Given the description of an element on the screen output the (x, y) to click on. 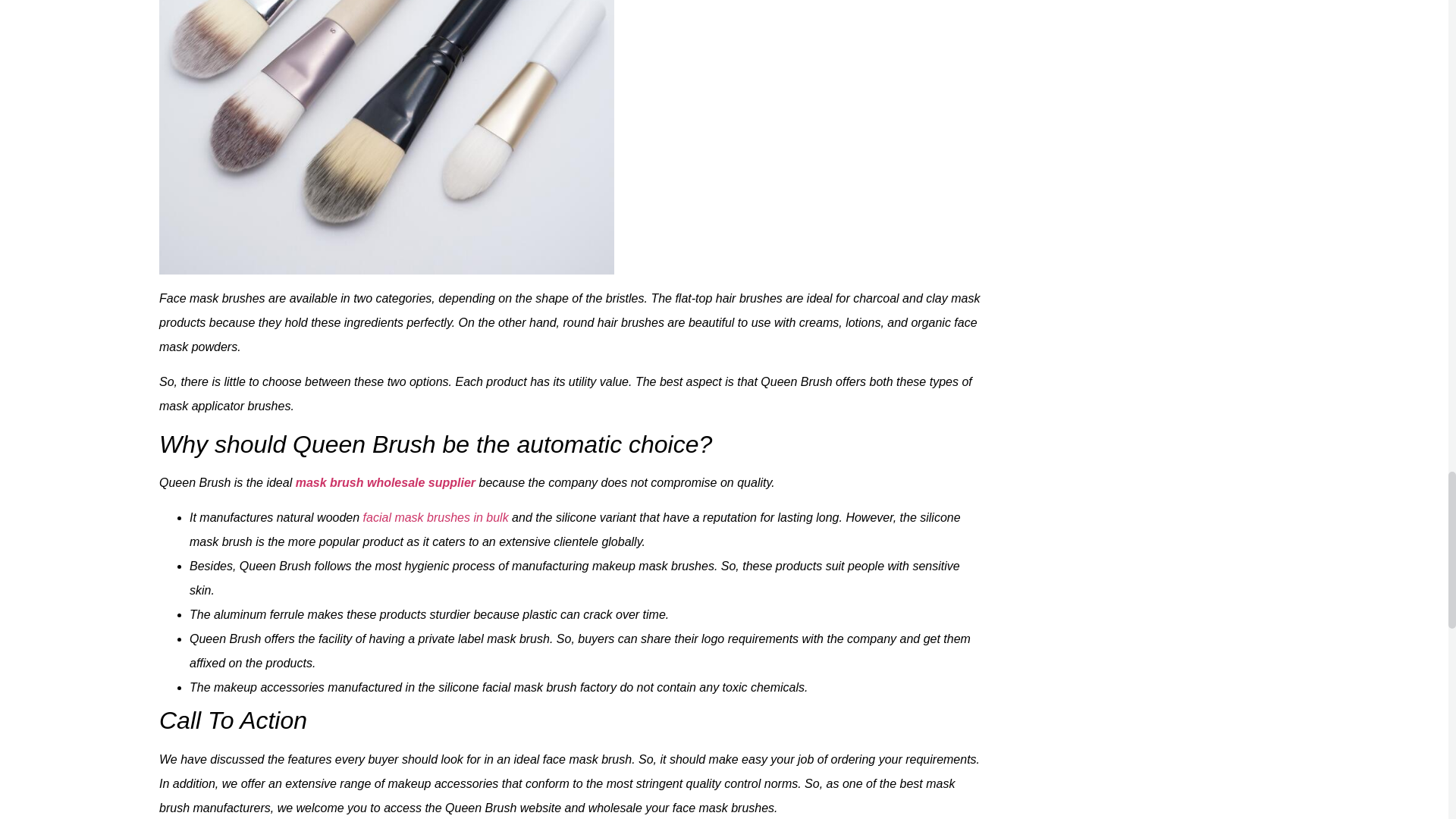
mask brush wholesale supplier (385, 481)
facial mask brushes in bulk (435, 517)
